Given the description of an element on the screen output the (x, y) to click on. 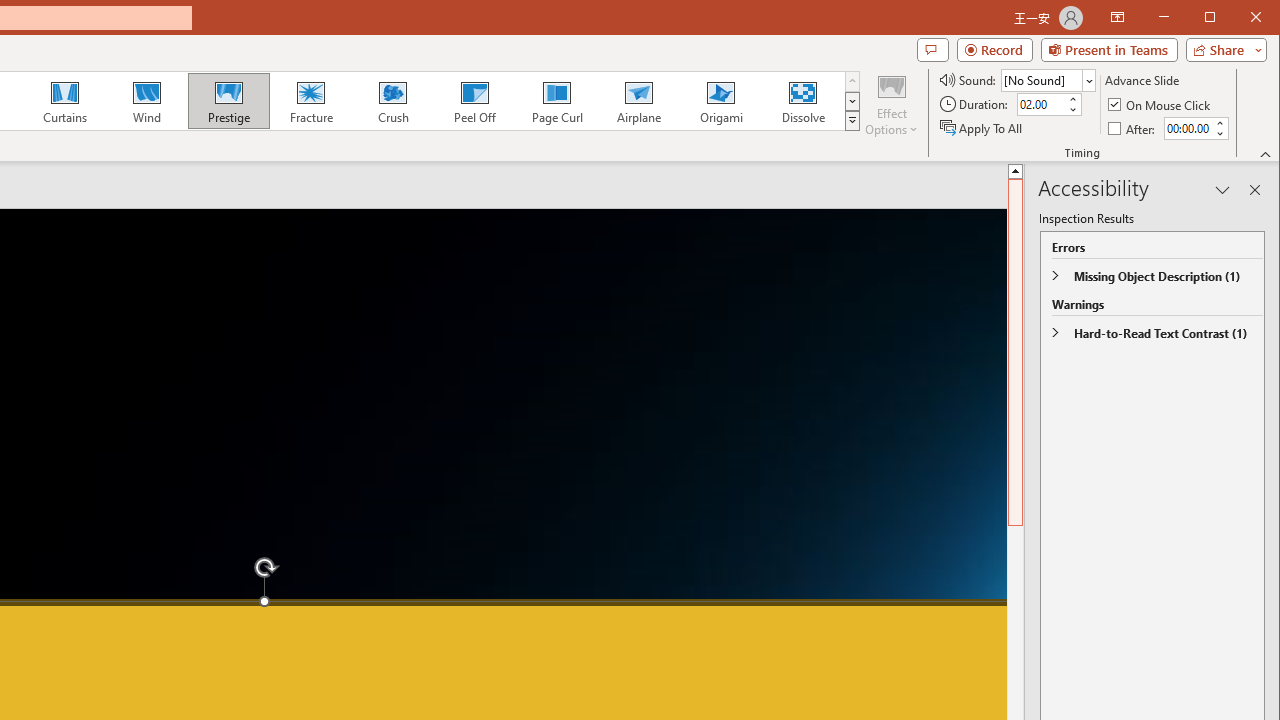
Row up (852, 81)
Line up (1015, 170)
Close (1261, 18)
Page Curl (556, 100)
On Mouse Click (1160, 103)
Open (1087, 79)
Wind (147, 100)
